Given the description of an element on the screen output the (x, y) to click on. 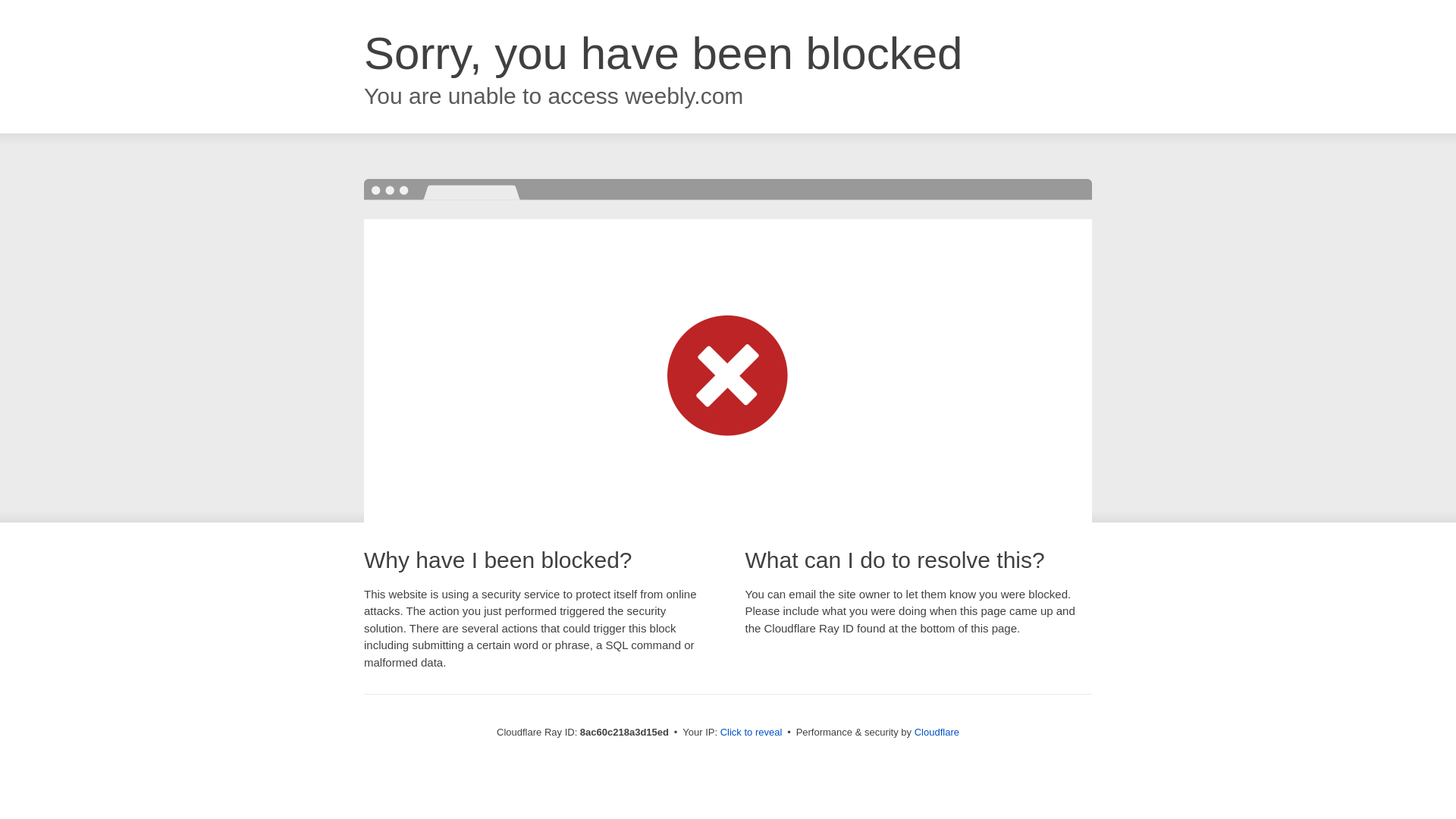
Click to reveal (751, 732)
Cloudflare (936, 731)
